Given the description of an element on the screen output the (x, y) to click on. 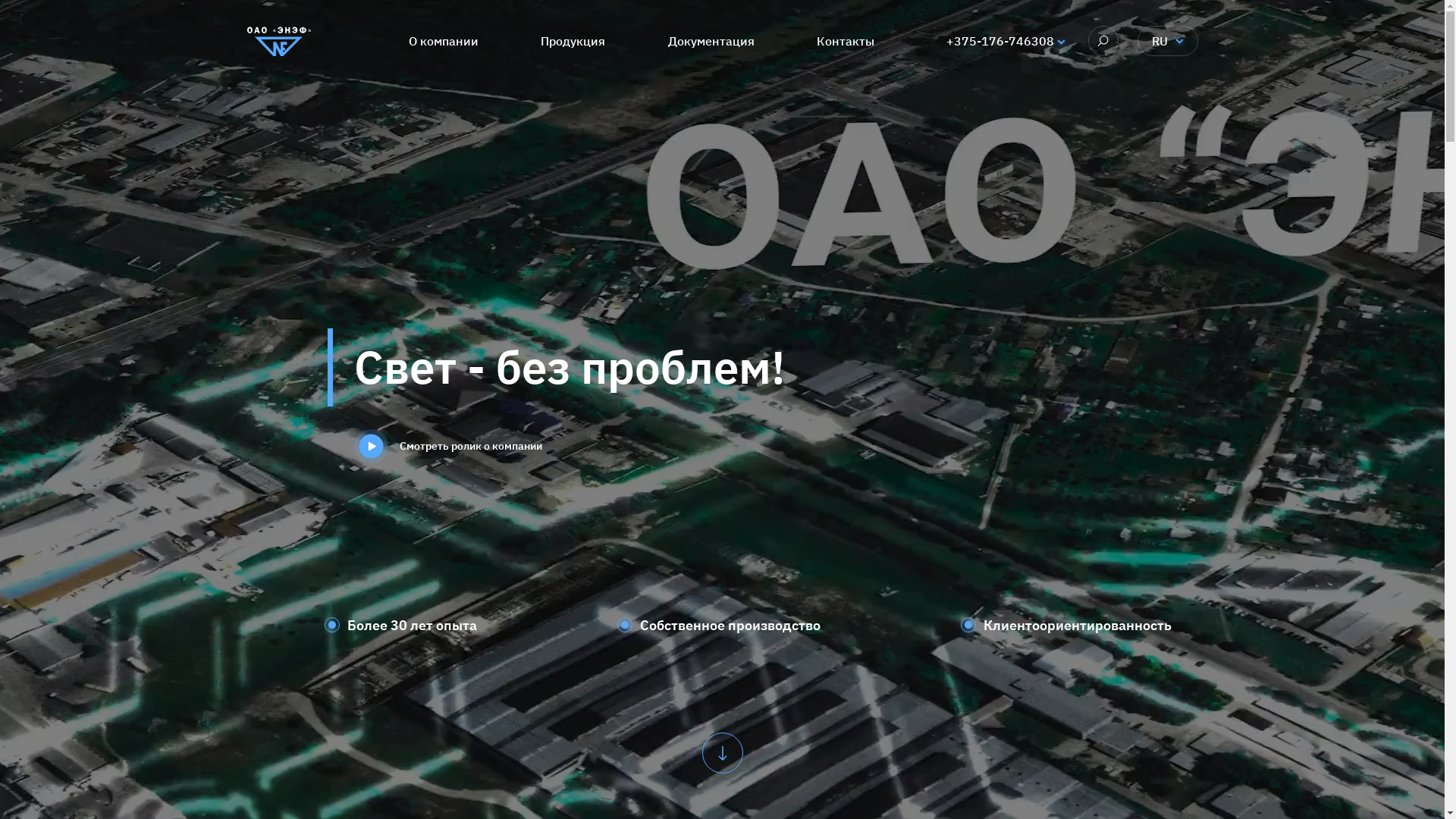
+375-176-746308 Element type: text (1000, 40)
